Given the description of an element on the screen output the (x, y) to click on. 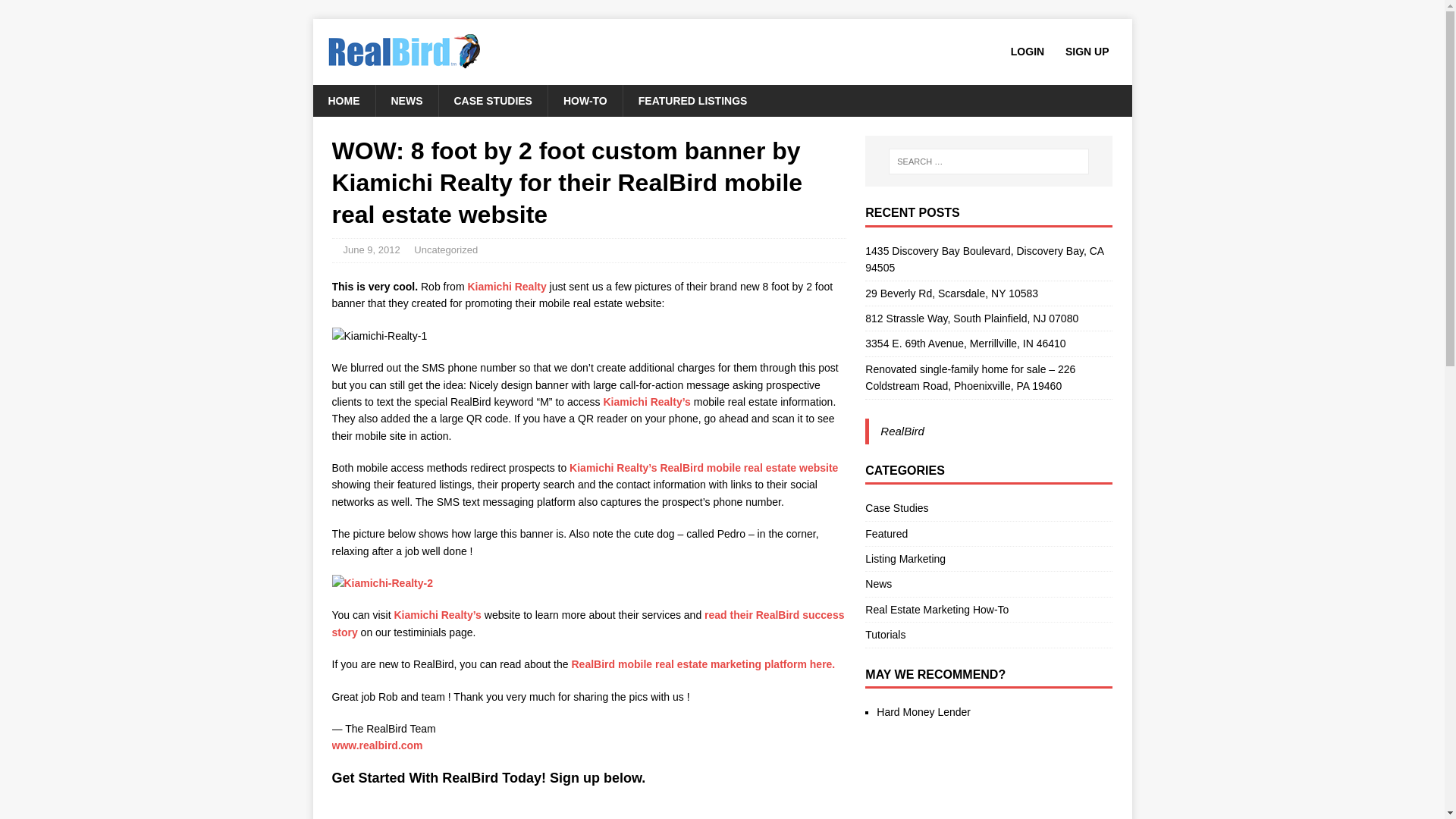
www.realbird.com  (378, 745)
Featured (988, 533)
LOGIN (1027, 51)
Search (56, 11)
Kiamichi Realty (436, 614)
Kiamichi-Realty-2 (381, 582)
3354 E. 69th Avenue, Merrillville, IN 46410 (964, 343)
Kiamichi Realty mobile real estate website (703, 467)
29 Beverly Rd, Scarsdale, NY 10583 (951, 293)
Kiamichi Realty (506, 286)
